Given the description of an element on the screen output the (x, y) to click on. 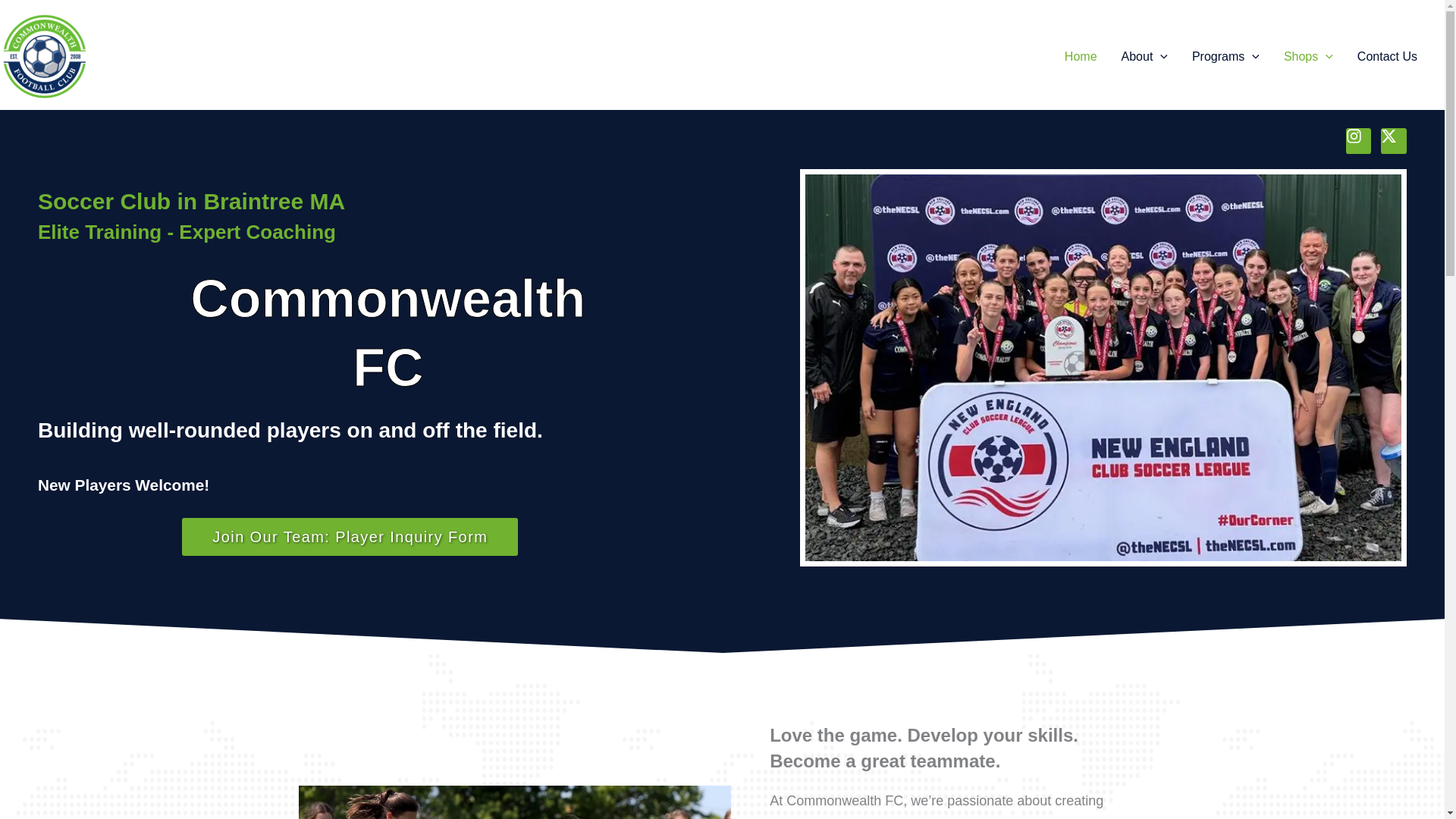
Contact Us (1387, 56)
X-twitter (1393, 140)
Instagram (1358, 140)
Home (1080, 56)
About (1144, 56)
Shops (1308, 56)
Programs (1225, 56)
Join Our Team: Player Inquiry Form (350, 536)
